Given the description of an element on the screen output the (x, y) to click on. 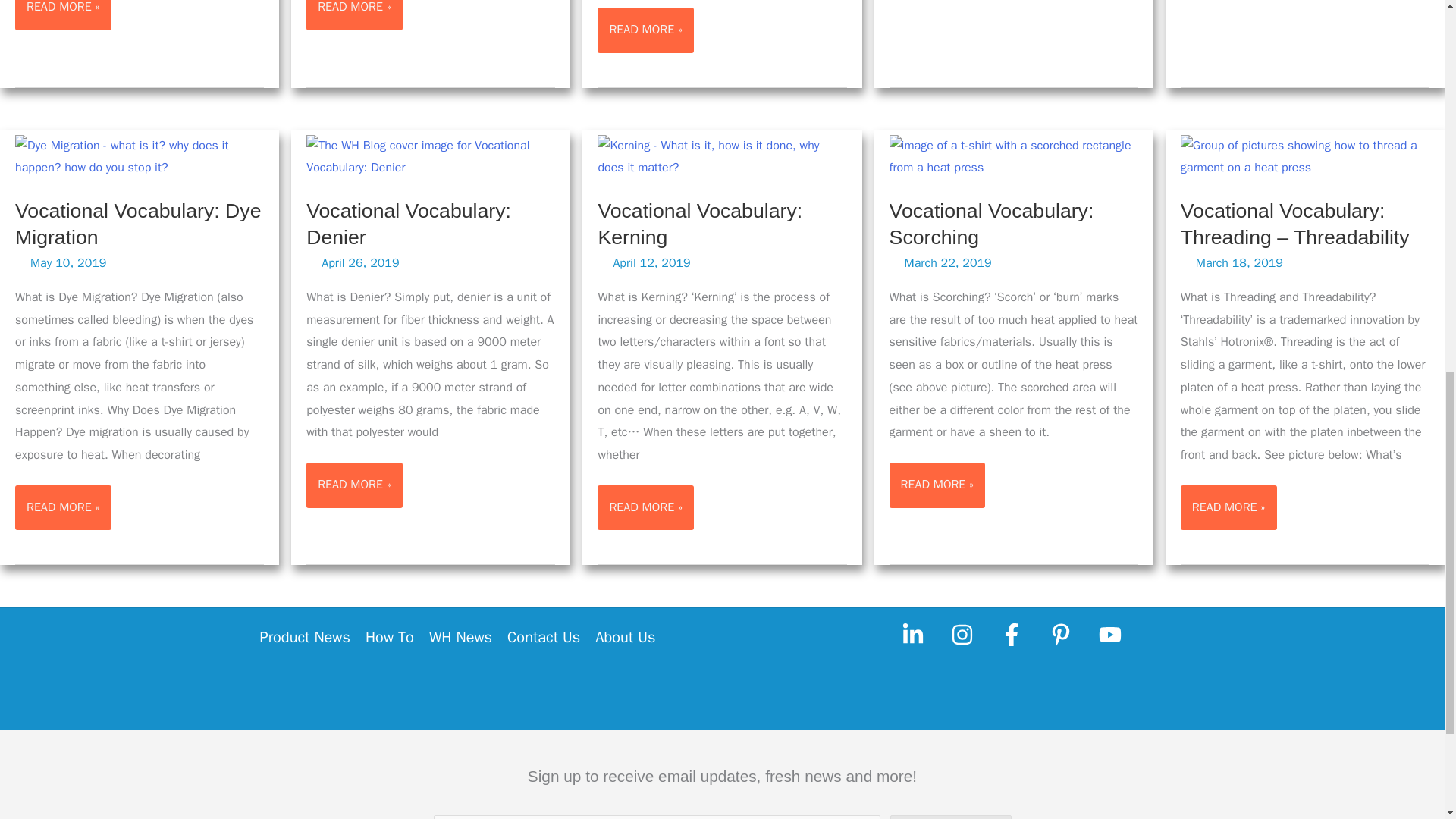
Vocational Vocabulary: Dye Migration (138, 223)
Vocational Vocabulary: Kerning (699, 223)
Vocational Vocabulary: Denier (408, 223)
